Given the description of an element on the screen output the (x, y) to click on. 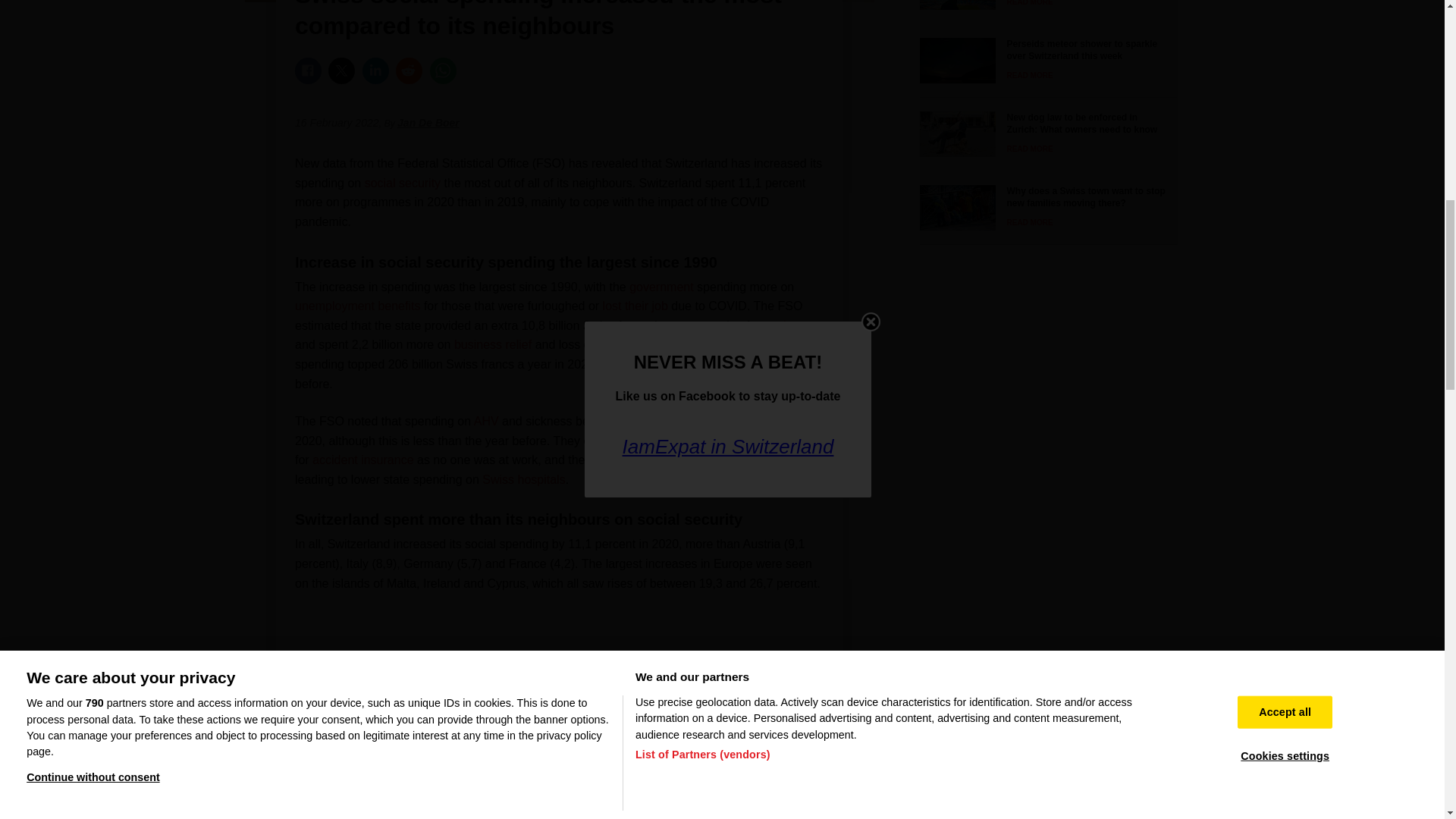
3rd party ad content (559, 667)
Perseids meteor shower to sparkle over Switzerland this week (1043, 60)
